Given the description of an element on the screen output the (x, y) to click on. 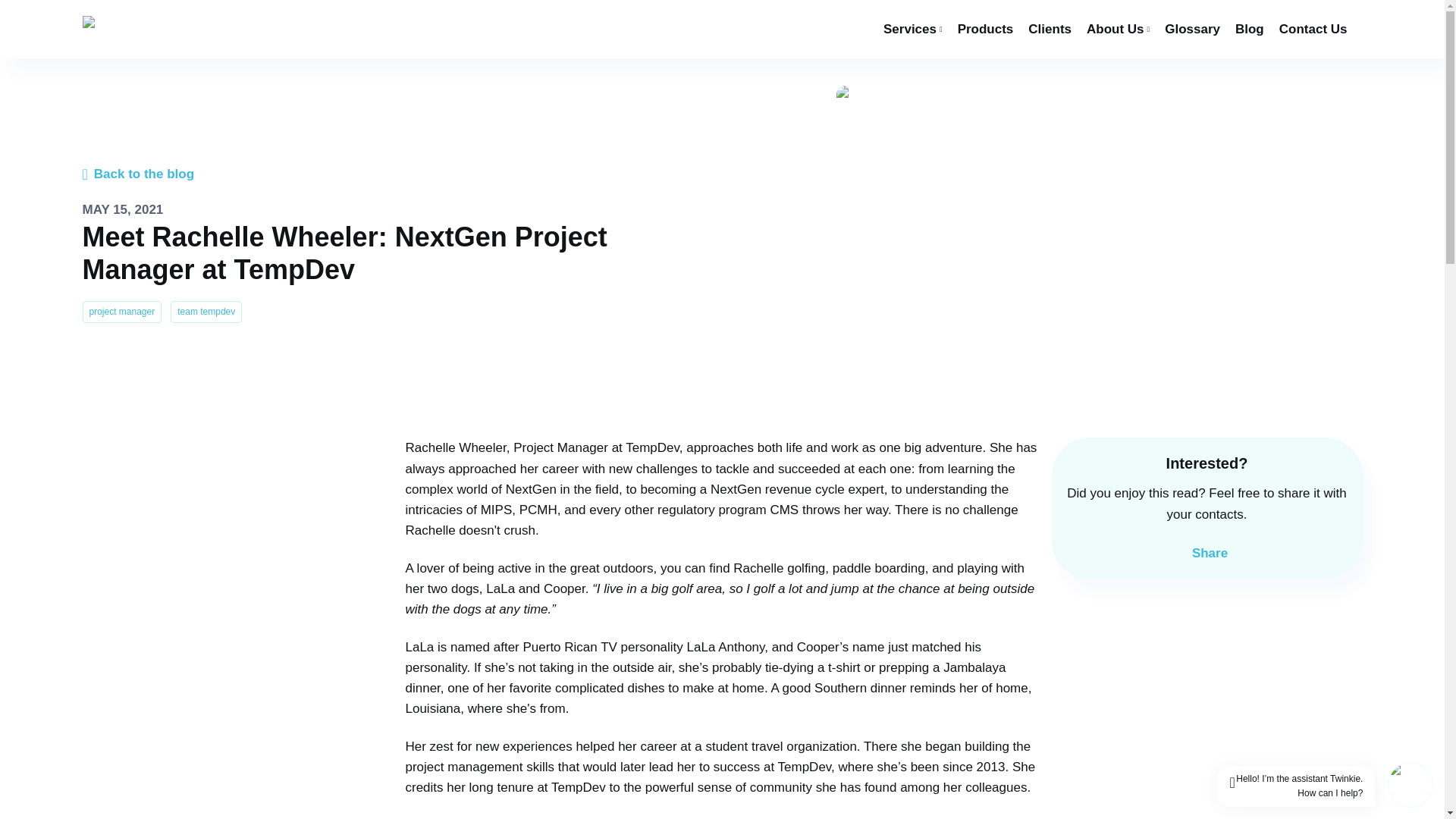
Products (985, 28)
team tempdev (205, 308)
Clients (1049, 28)
Blog (1248, 28)
project manager (121, 308)
Contact Us (1313, 28)
Glossary (1192, 28)
Share (1206, 552)
Back to the blog (137, 173)
